Given the description of an element on the screen output the (x, y) to click on. 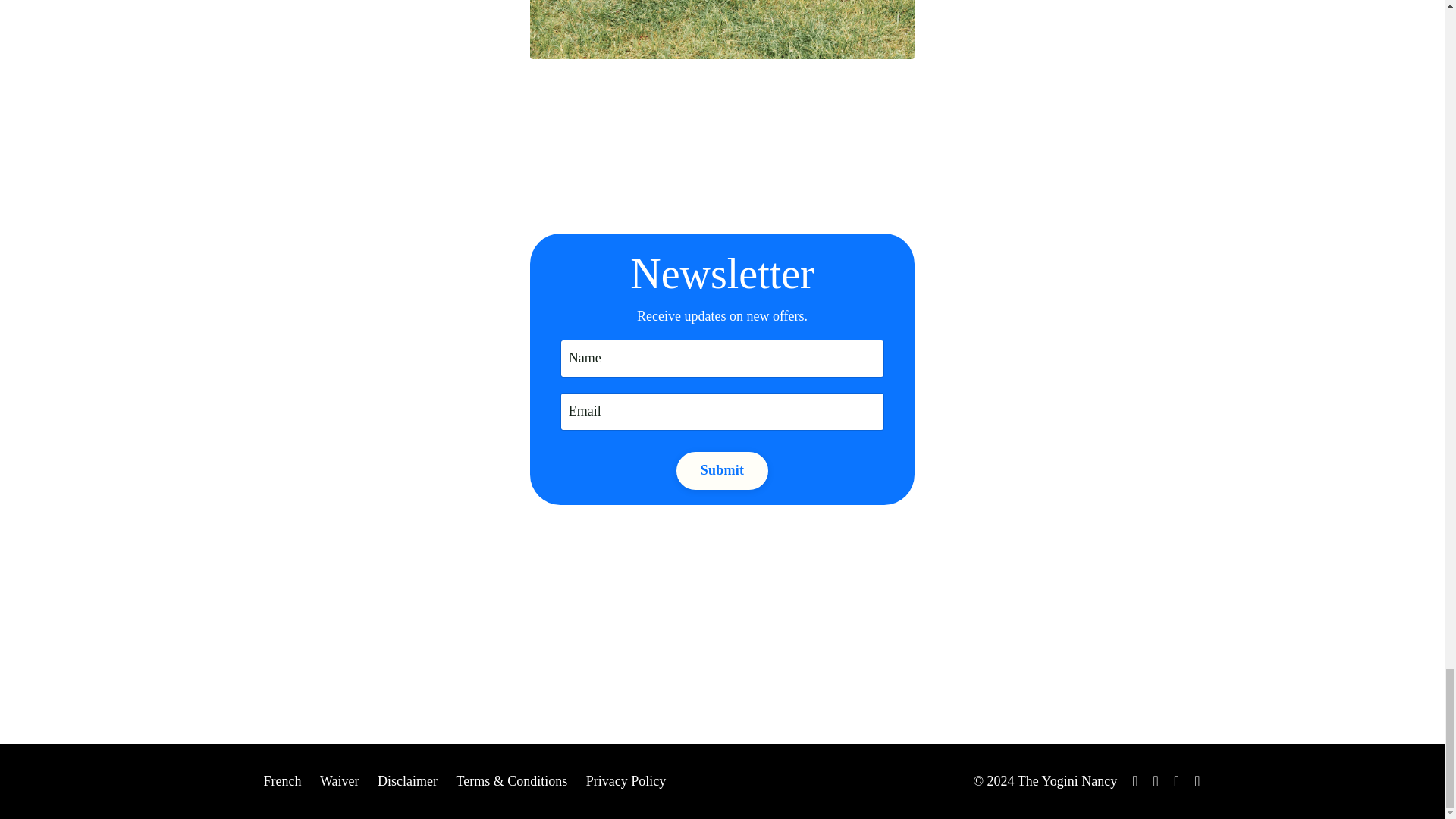
Waiver (339, 780)
Privacy Policy (626, 780)
Submit (722, 470)
Disclaimer (407, 780)
French (282, 780)
